Given the description of an element on the screen output the (x, y) to click on. 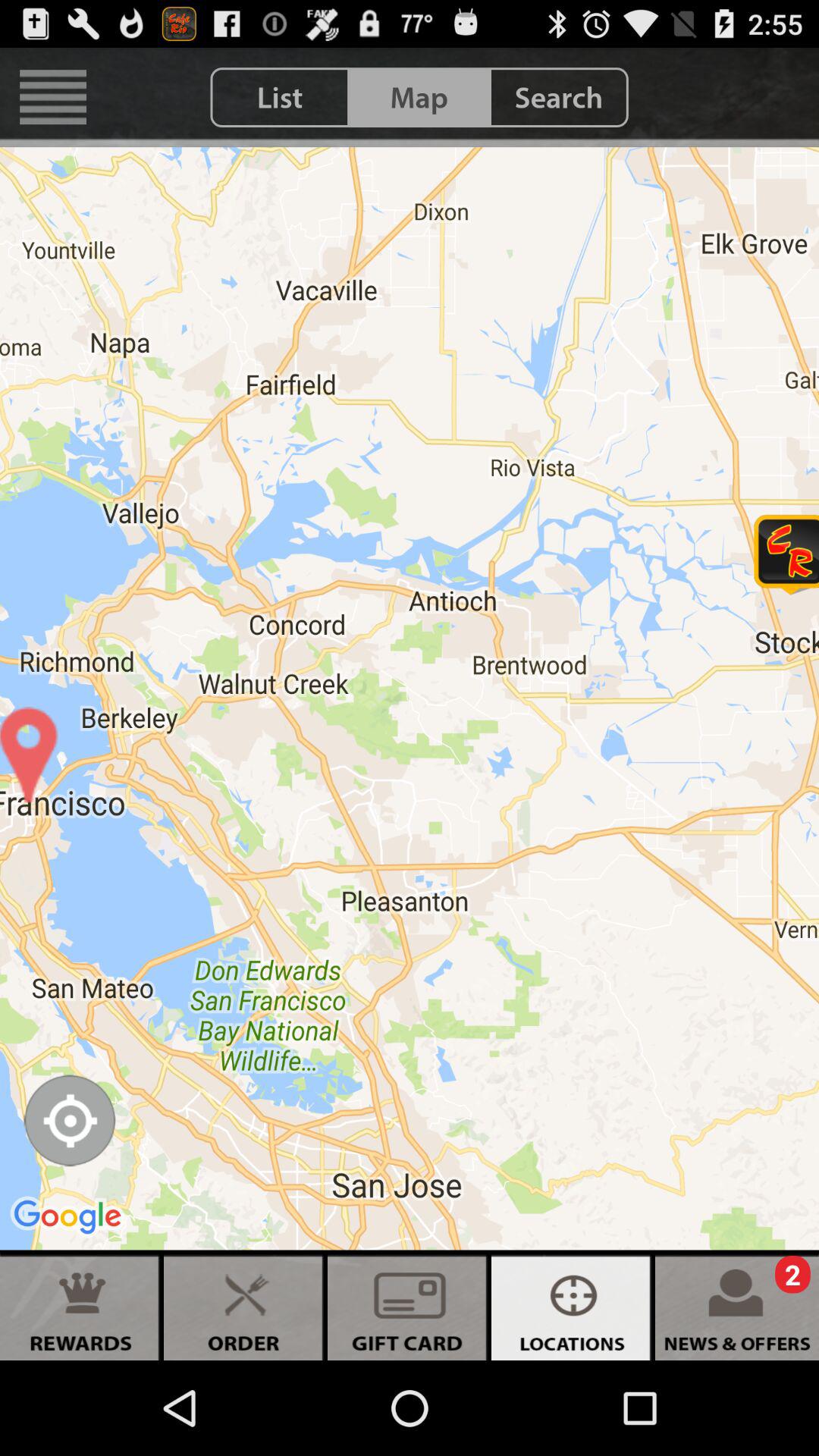
open the item next to map icon (558, 97)
